Given the description of an element on the screen output the (x, y) to click on. 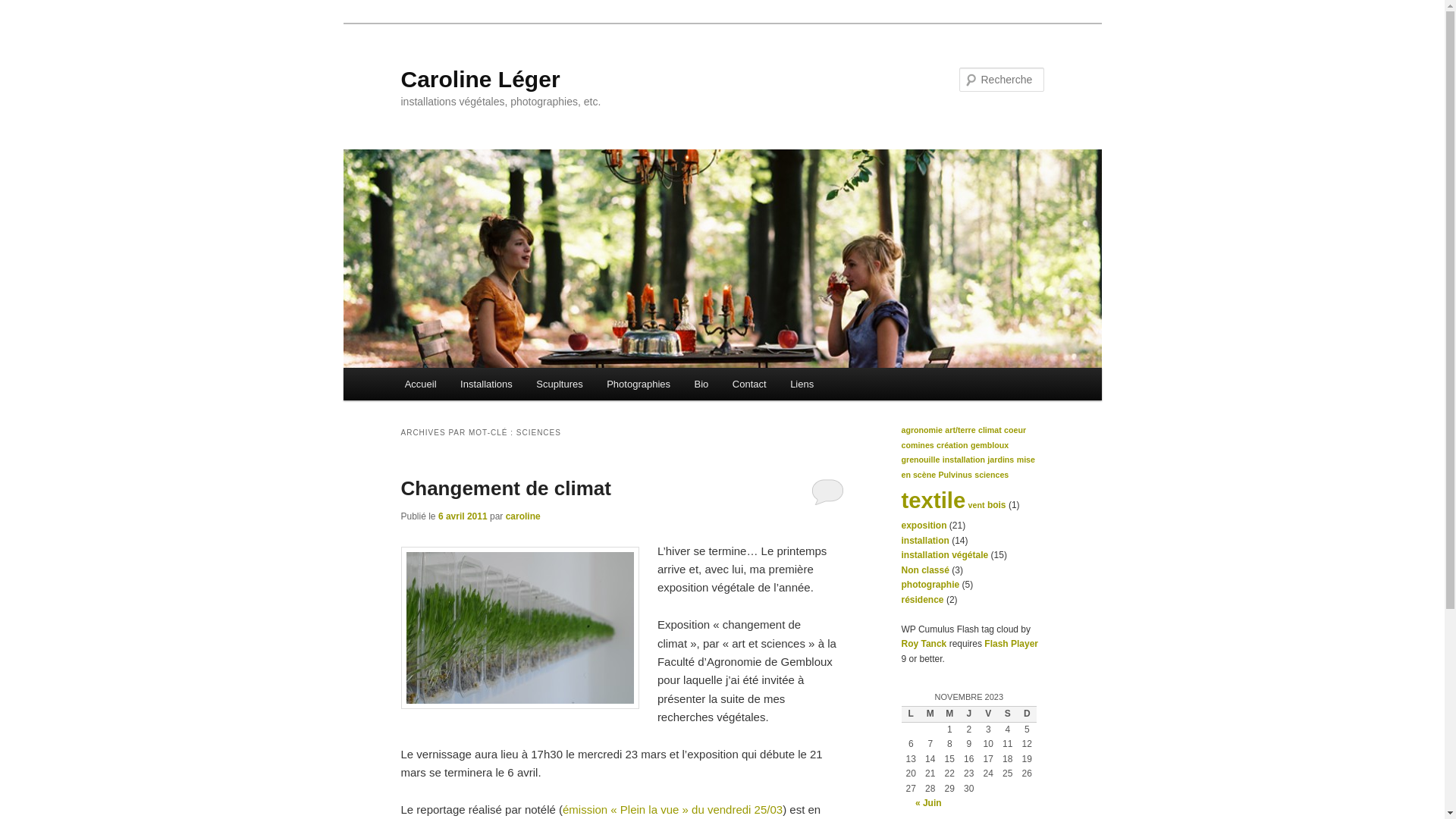
Roy Tanck Element type: text (923, 643)
Recherche Element type: text (33, 8)
installation Element type: text (963, 459)
art/terre Element type: text (959, 429)
Aller au contenu principal Element type: text (22, 22)
agronomie Element type: text (920, 429)
sciences Element type: text (991, 474)
_DSC0079 Element type: hover (519, 627)
coeur Element type: text (1015, 429)
Contact Element type: text (749, 383)
installation Element type: text (924, 540)
bois Element type: text (996, 504)
gembloux Element type: text (989, 444)
Liens Element type: text (801, 383)
grenouille Element type: text (919, 459)
photographie Element type: text (929, 584)
6 avril 2011 Element type: text (462, 516)
jardins Element type: text (1000, 459)
exposition Element type: text (923, 525)
vent Element type: text (976, 504)
Installations Element type: text (486, 383)
climat Element type: text (989, 429)
comines Element type: text (916, 444)
Flash Player Element type: text (1011, 643)
Bio Element type: text (701, 383)
textile Element type: text (932, 499)
caroline Element type: text (522, 516)
Photographies Element type: text (637, 383)
Changement de climat Element type: text (505, 487)
Accueil Element type: text (420, 383)
Scupltures Element type: text (559, 383)
Pulvinus Element type: text (954, 474)
